Given the description of an element on the screen output the (x, y) to click on. 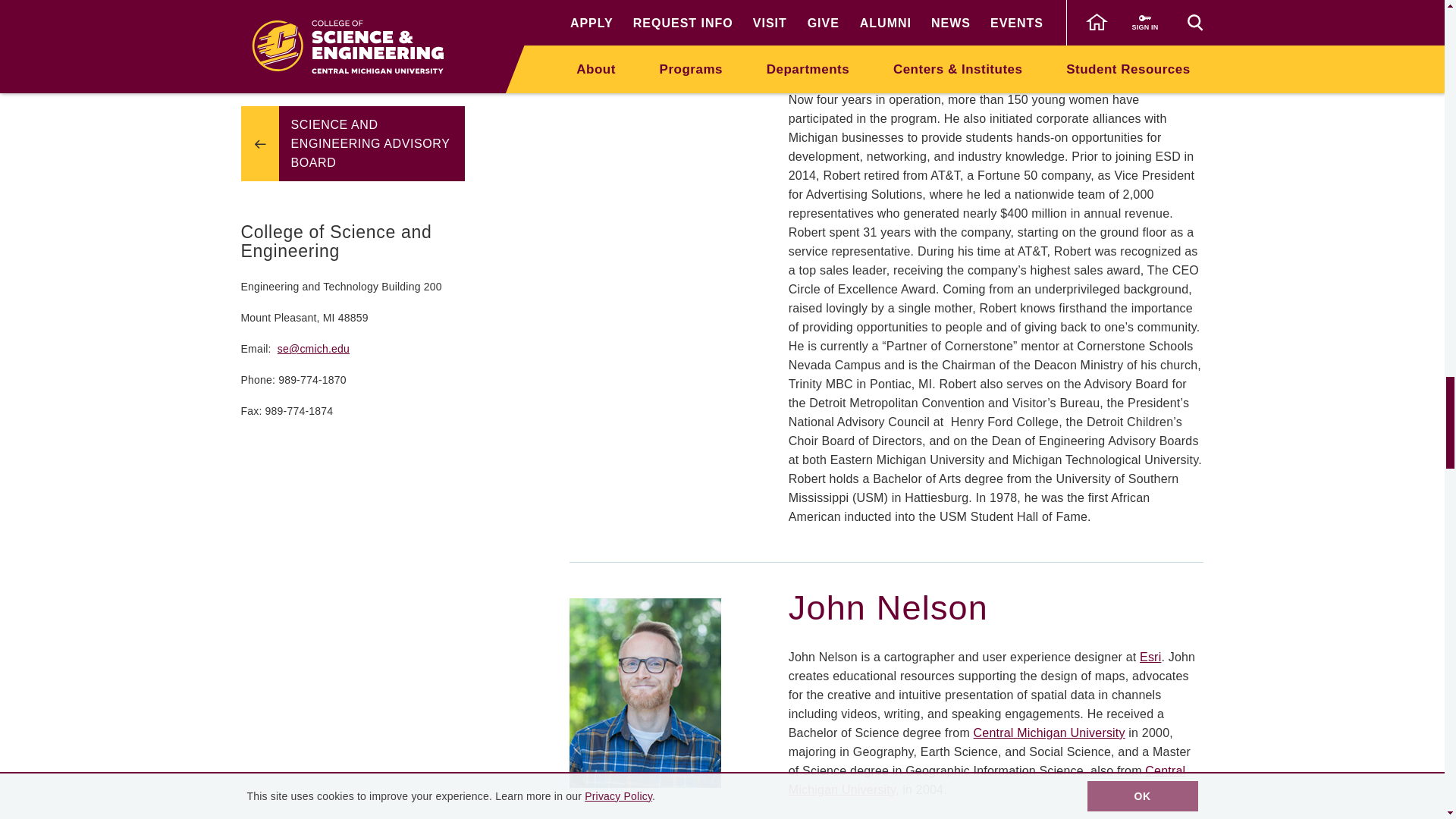
Esri (1150, 656)
ESD Girls in Engineering Academy (994, 33)
